Given the description of an element on the screen output the (x, y) to click on. 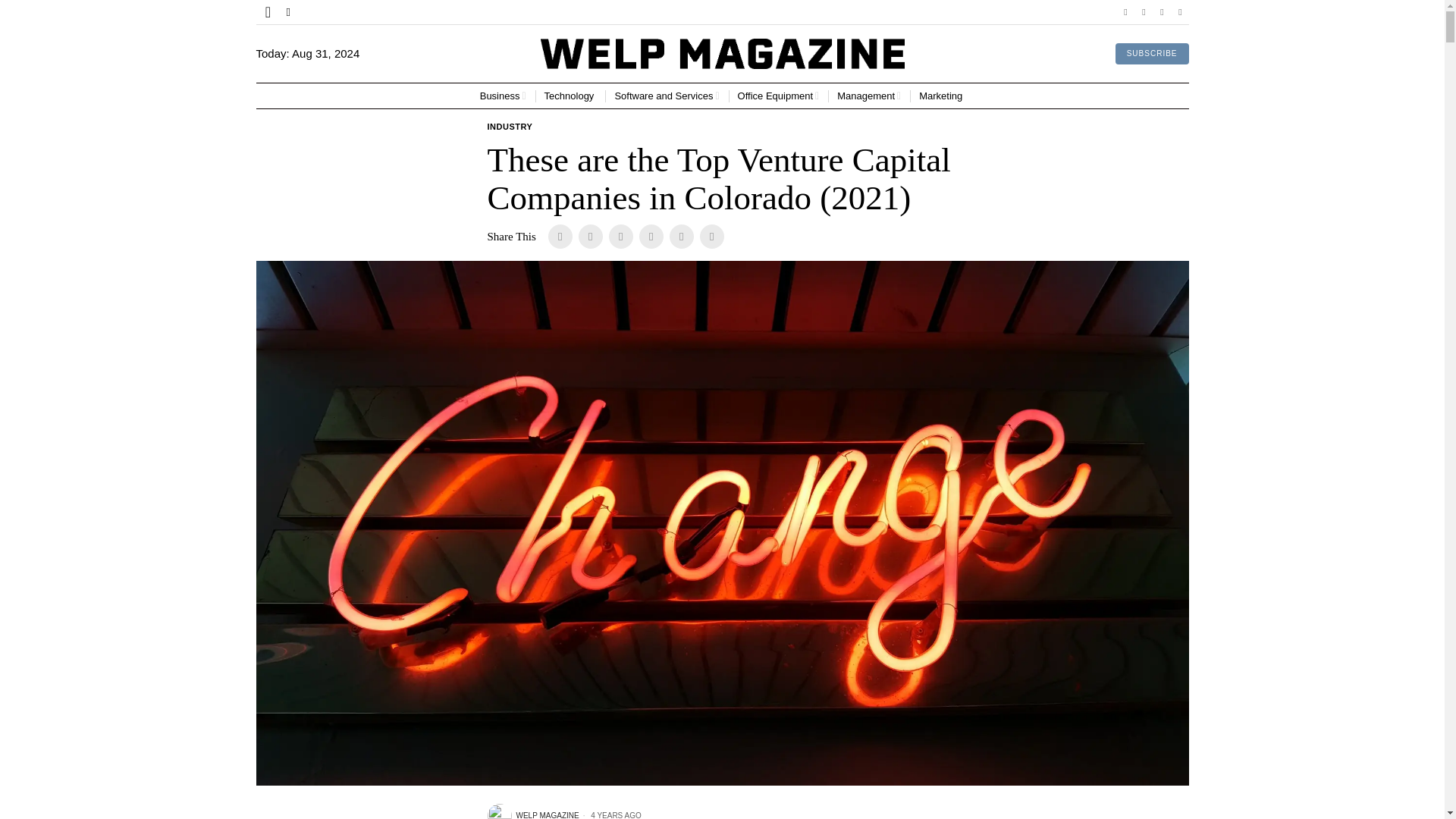
Office Equipment (778, 95)
Management (869, 95)
Business (502, 95)
Technology (570, 95)
24 Feb, 2021 12:18:28 (610, 814)
WELP MAGAZINE (532, 811)
SUBSCRIBE (1152, 53)
Marketing (942, 95)
Software and Services (666, 95)
INDUSTRY (509, 127)
